Given the description of an element on the screen output the (x, y) to click on. 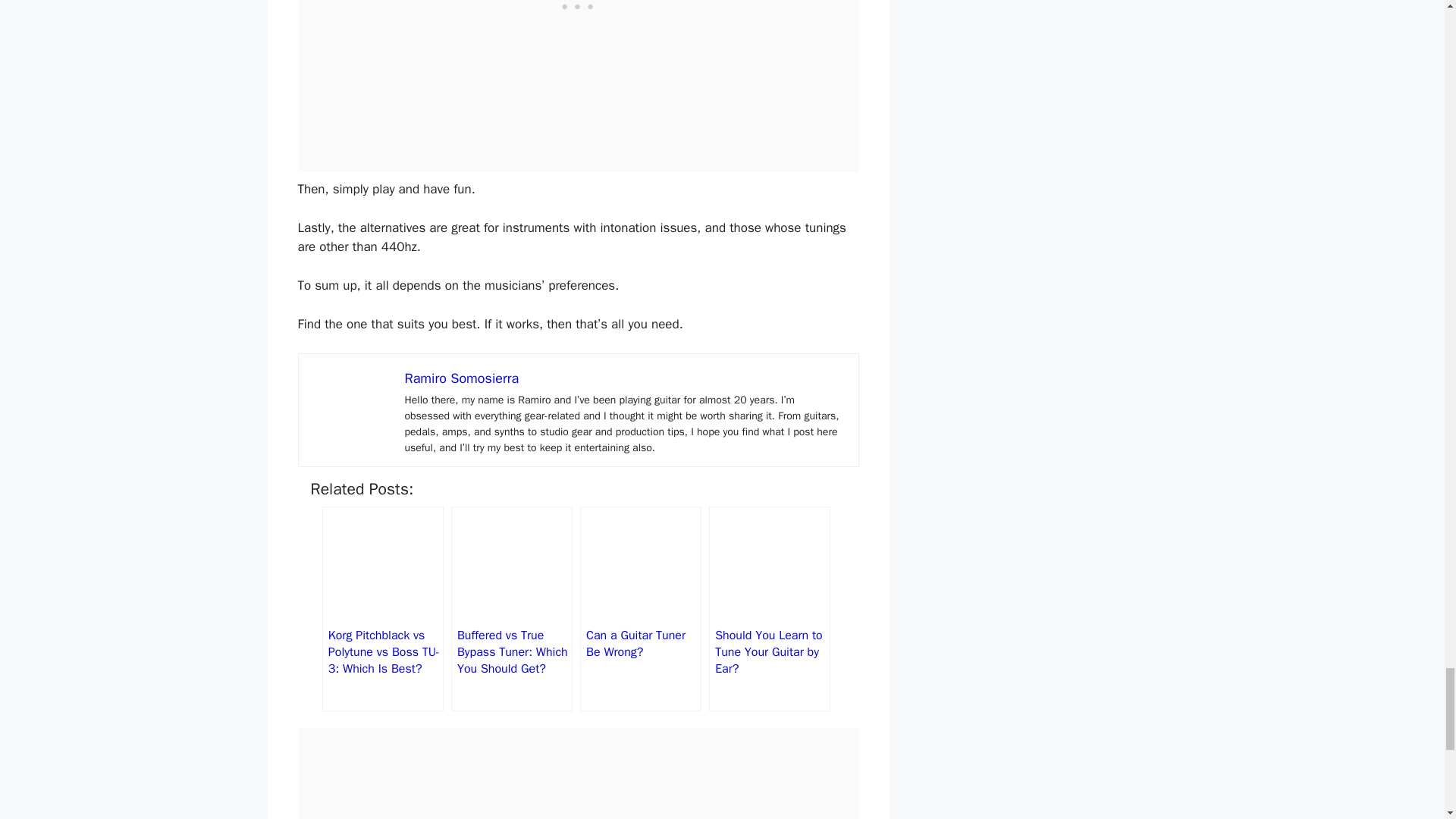
Ramiro Somosierra (461, 378)
